Given the description of an element on the screen output the (x, y) to click on. 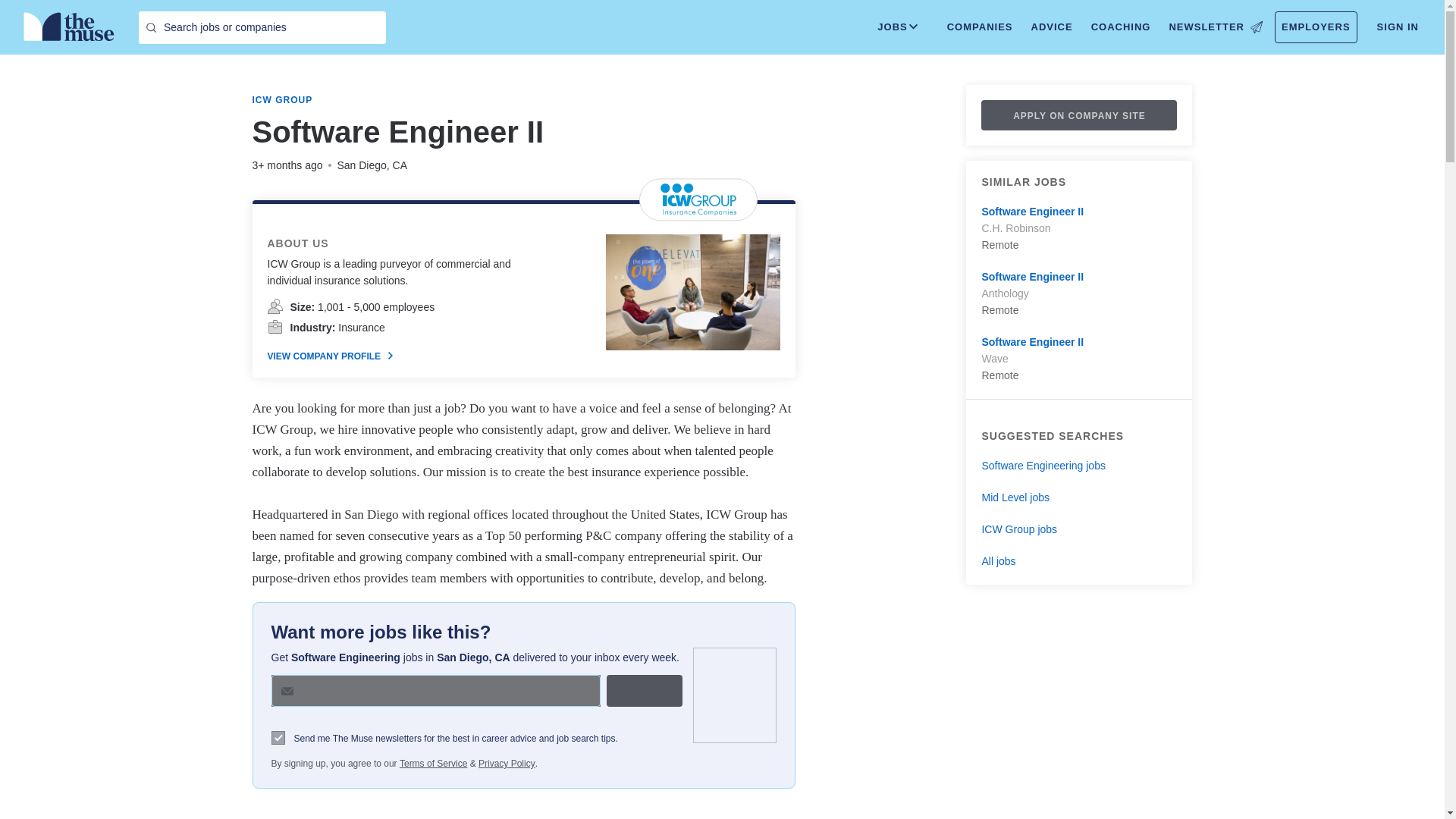
Terms of Service (432, 763)
ADVICE (1051, 27)
COACHING (1120, 27)
SIGN IN (1398, 27)
Privacy Policy (506, 763)
ICW GROUP (282, 100)
GET JOBS (644, 690)
VIEW COMPANY PROFILE (329, 356)
COMPANIES (979, 27)
NEWSLETTER (1214, 27)
EMPLOYERS (1315, 27)
